Given the description of an element on the screen output the (x, y) to click on. 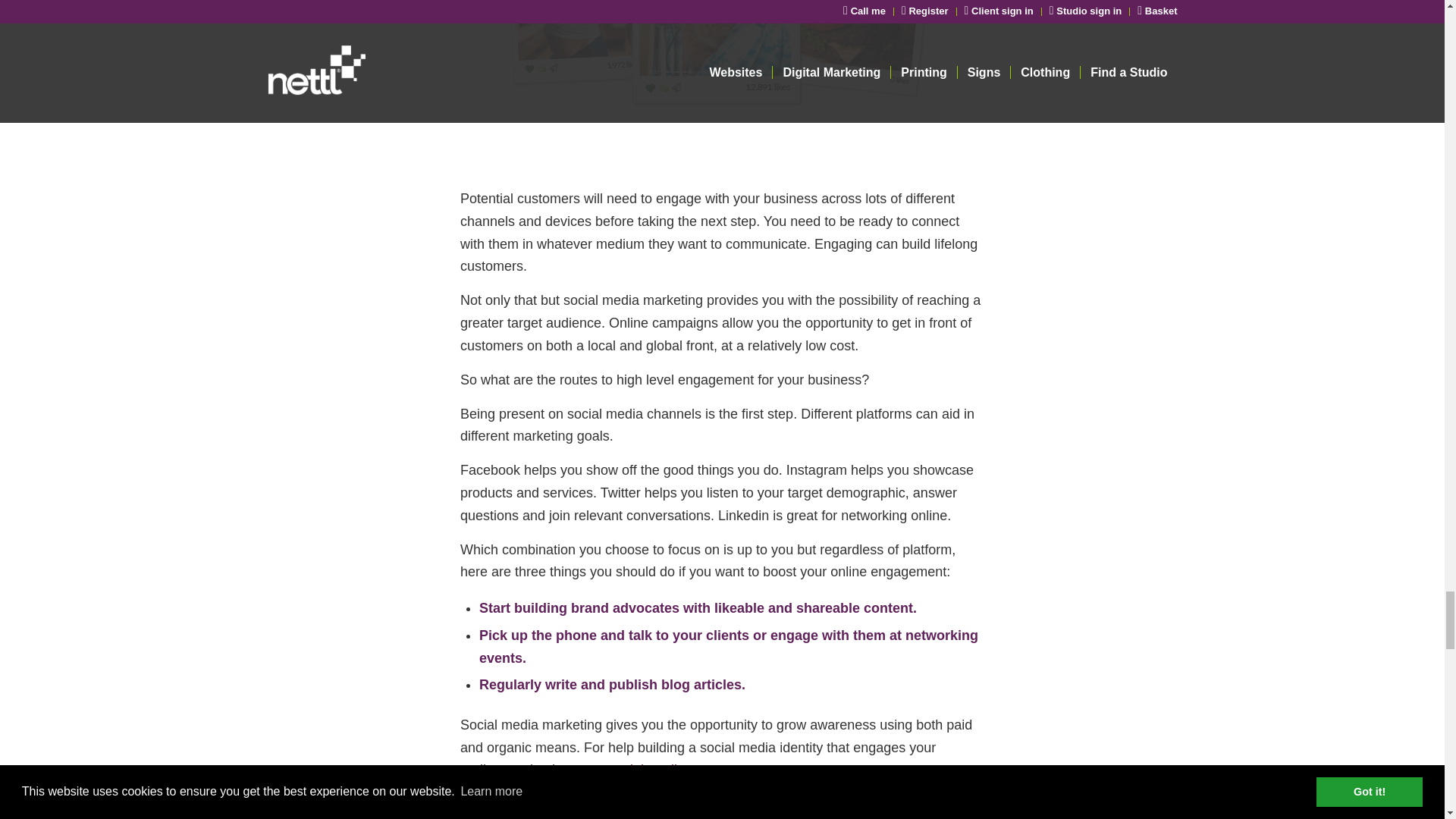
Social Pics (722, 65)
